Given the description of an element on the screen output the (x, y) to click on. 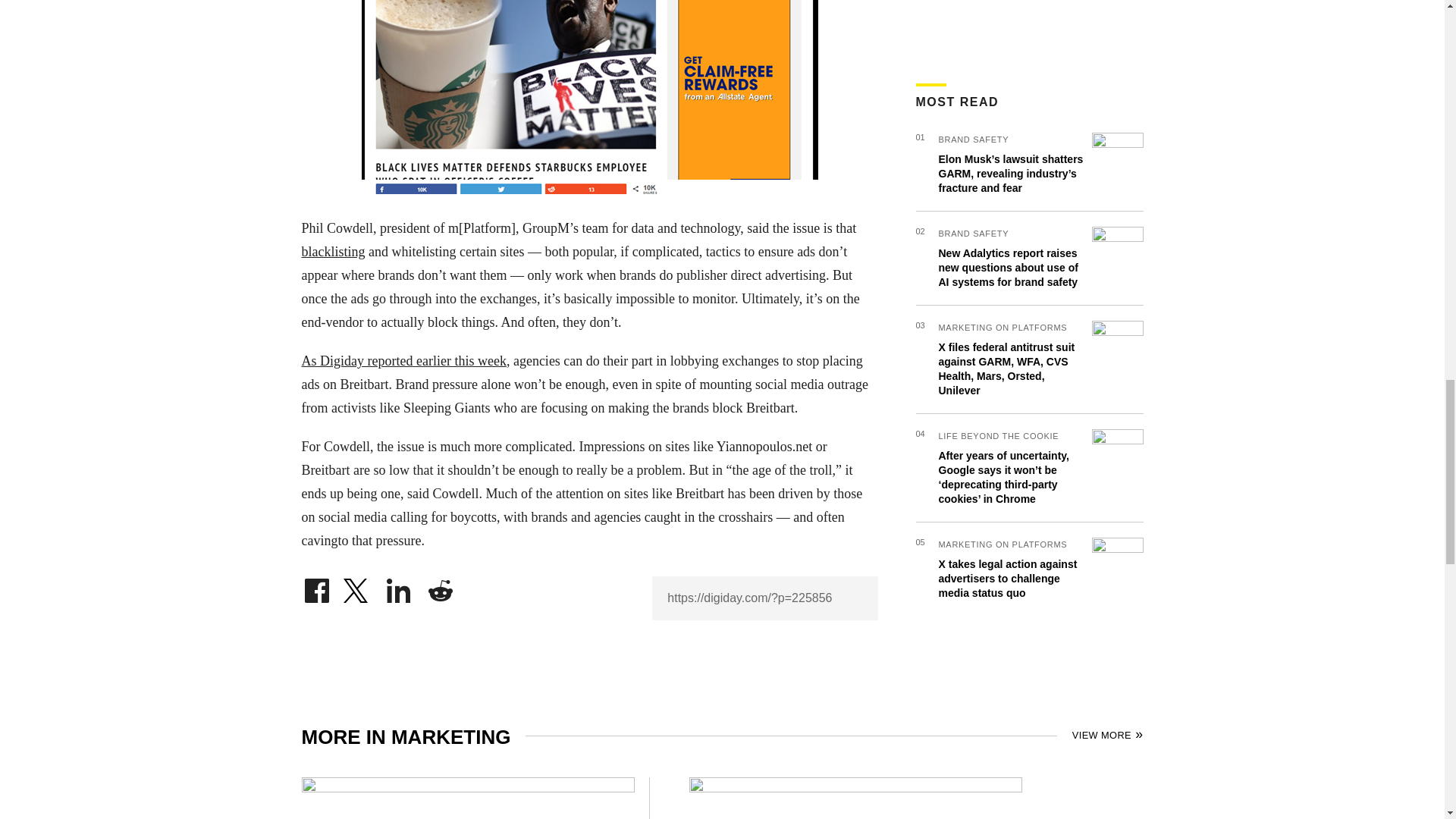
Share on Twitter (357, 586)
Share on Reddit (440, 586)
Share on Facebook (316, 586)
Share on LinkedIn (398, 586)
